Given the description of an element on the screen output the (x, y) to click on. 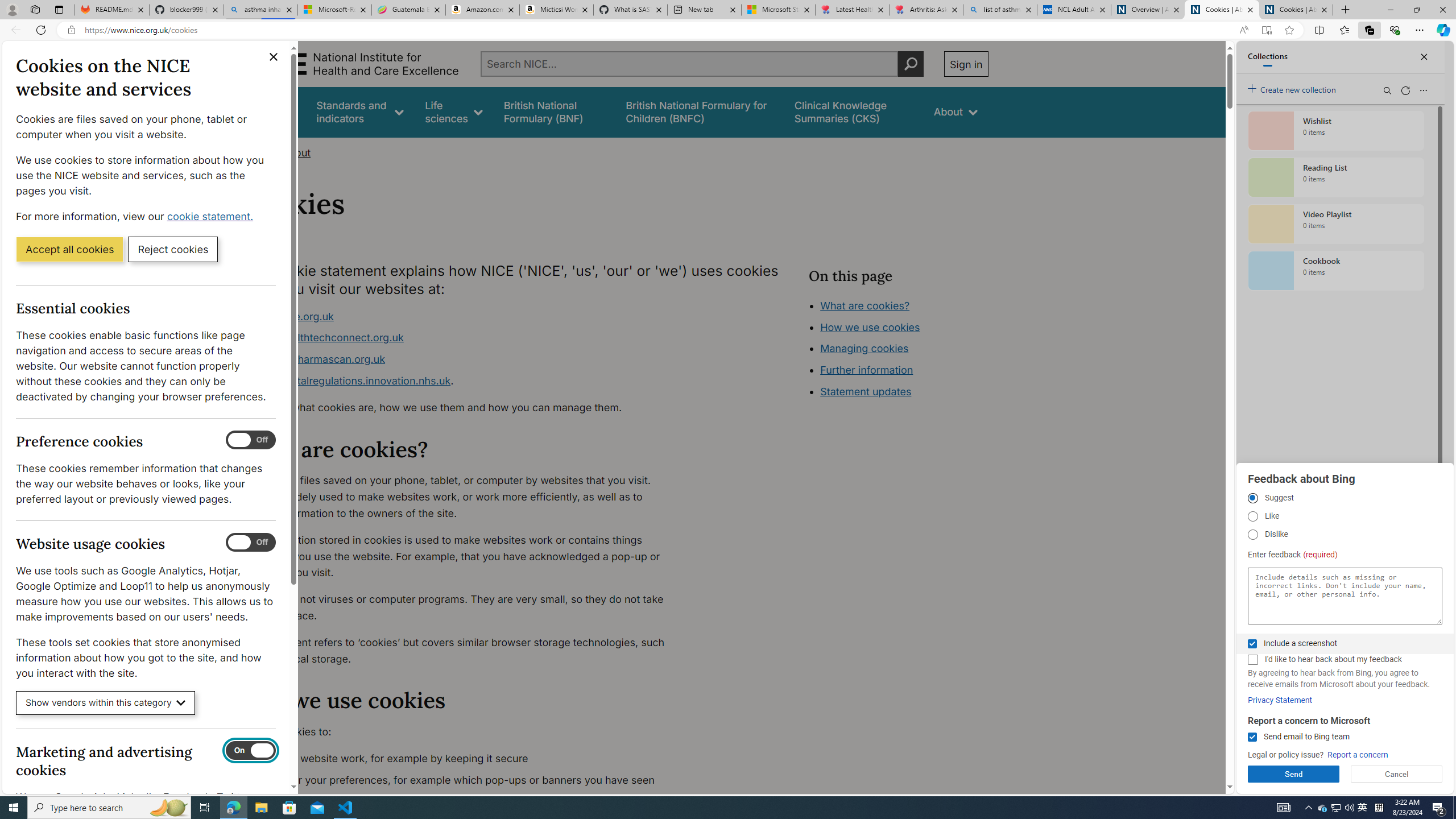
Perform search (909, 63)
Send email to Bing team (1251, 737)
What are cookies? (864, 305)
www.ukpharmascan.org.uk (464, 359)
British National Formulary for Children (BNFC) (699, 111)
Marketing and advertising cookies (250, 750)
asthma inhaler - Search (260, 9)
